Given the description of an element on the screen output the (x, y) to click on. 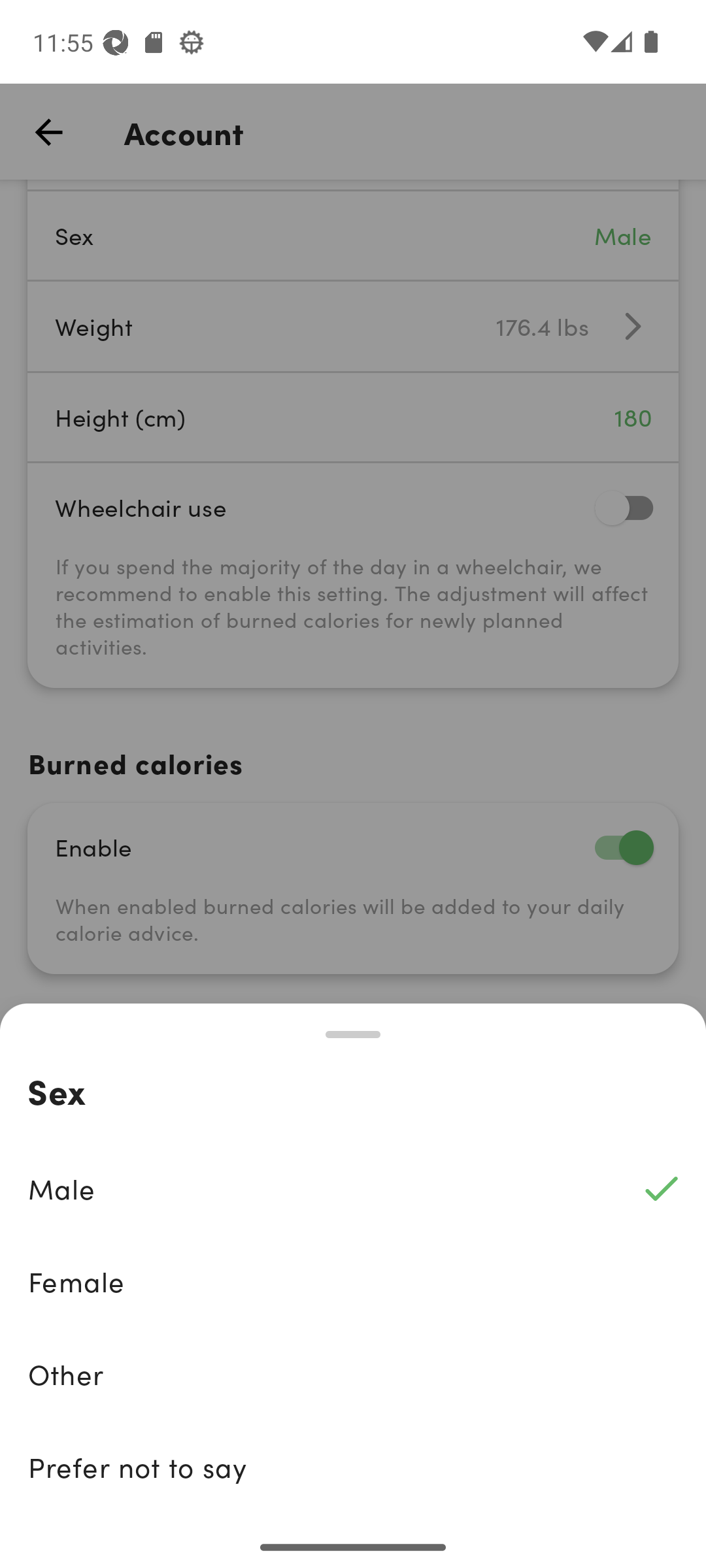
bottom_sheet_option Other bottom_sheet_option_text (353, 1374)
